Given the description of an element on the screen output the (x, y) to click on. 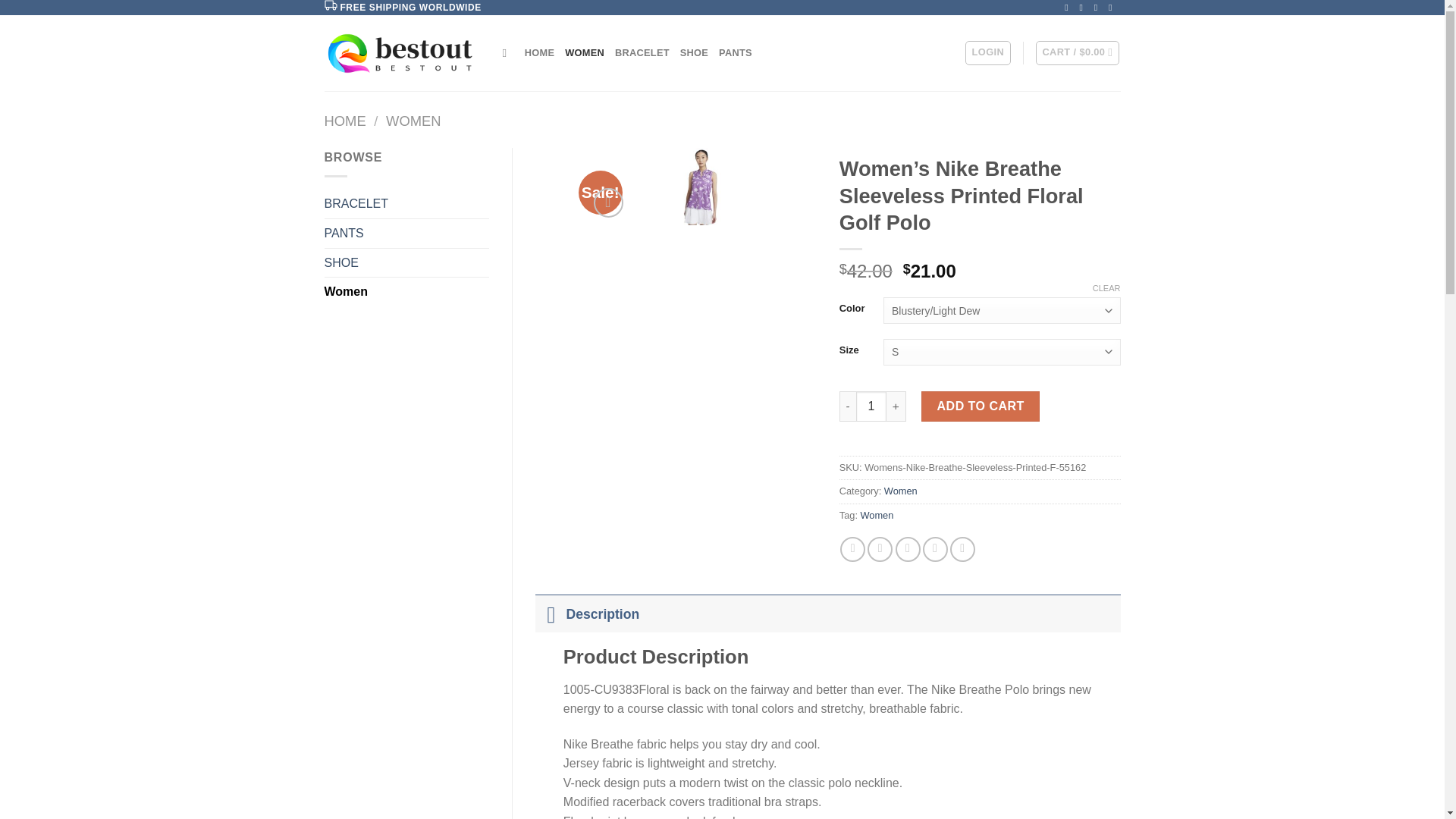
Women (876, 514)
Zoom (608, 202)
PANTS (735, 52)
SHOE (406, 262)
ADD TO CART (980, 406)
WOMEN (584, 52)
1 (871, 406)
Share on Facebook (852, 549)
Cart (1077, 52)
1005-CU9383.jpg (700, 186)
HOME (345, 120)
Women (900, 490)
BRACELET (641, 52)
WOMEN (413, 120)
HOME (539, 52)
